Given the description of an element on the screen output the (x, y) to click on. 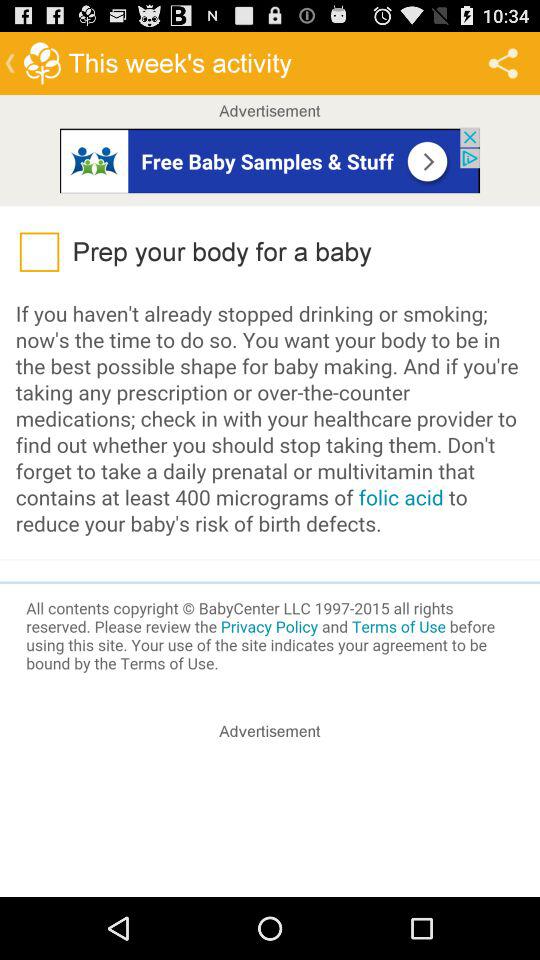
share the article (269, 822)
